Given the description of an element on the screen output the (x, y) to click on. 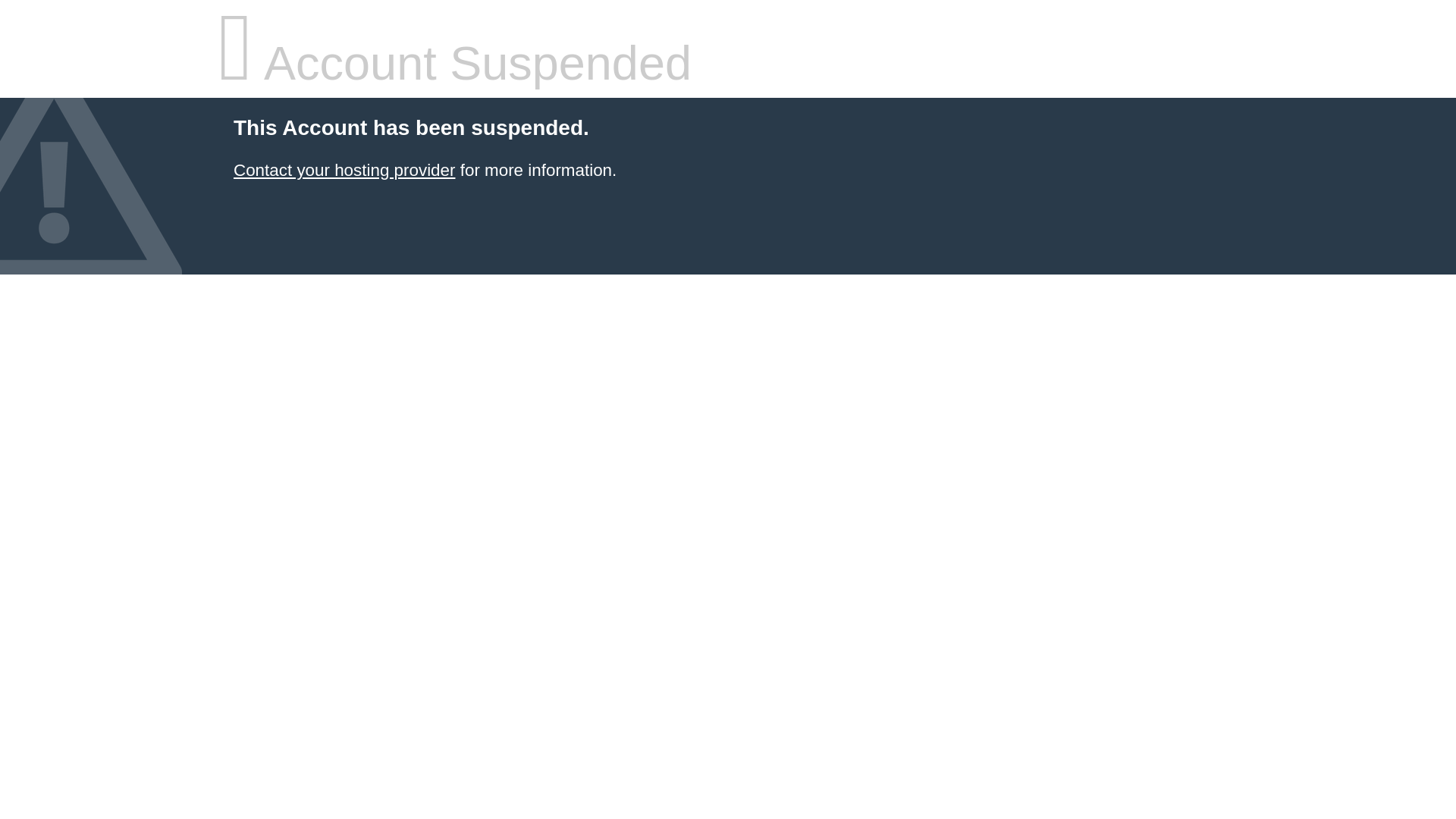
Contact your hosting provider (343, 169)
